Given the description of an element on the screen output the (x, y) to click on. 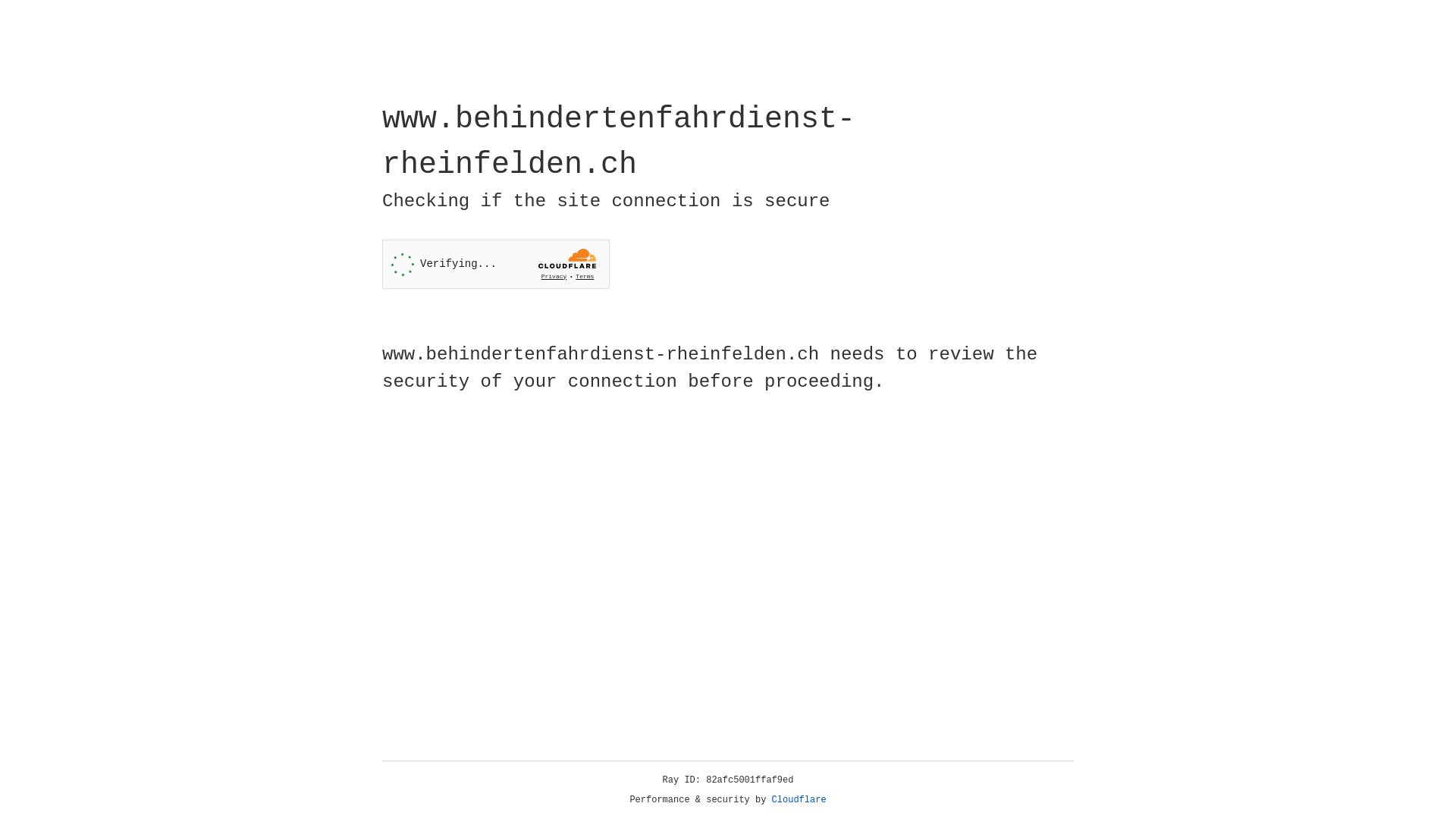
Widget containing a Cloudflare security challenge Element type: hover (495, 263)
Cloudflare Element type: text (798, 799)
